Given the description of an element on the screen output the (x, y) to click on. 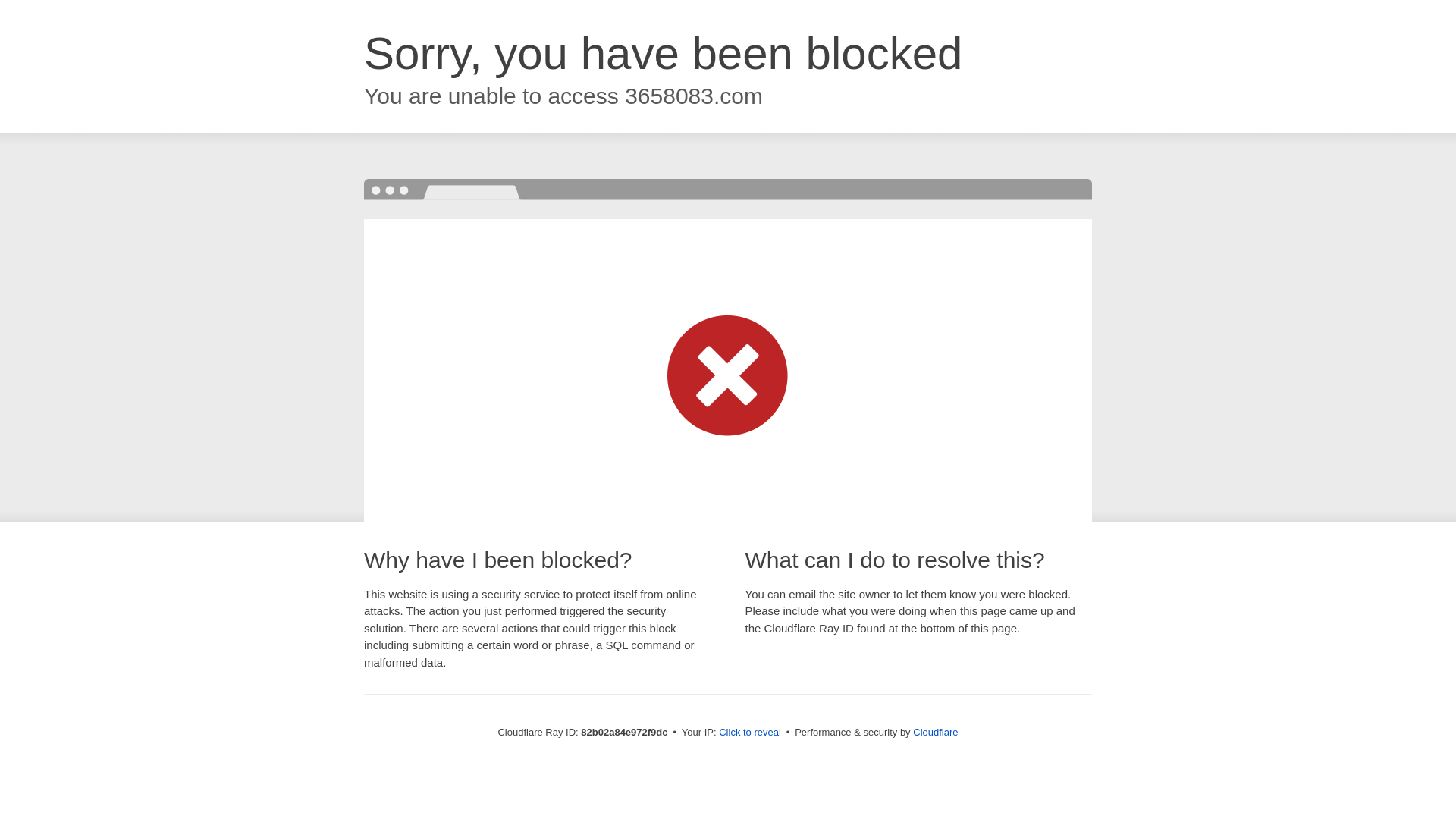
Cloudflare Element type: text (935, 731)
Click to reveal Element type: text (749, 732)
